Given the description of an element on the screen output the (x, y) to click on. 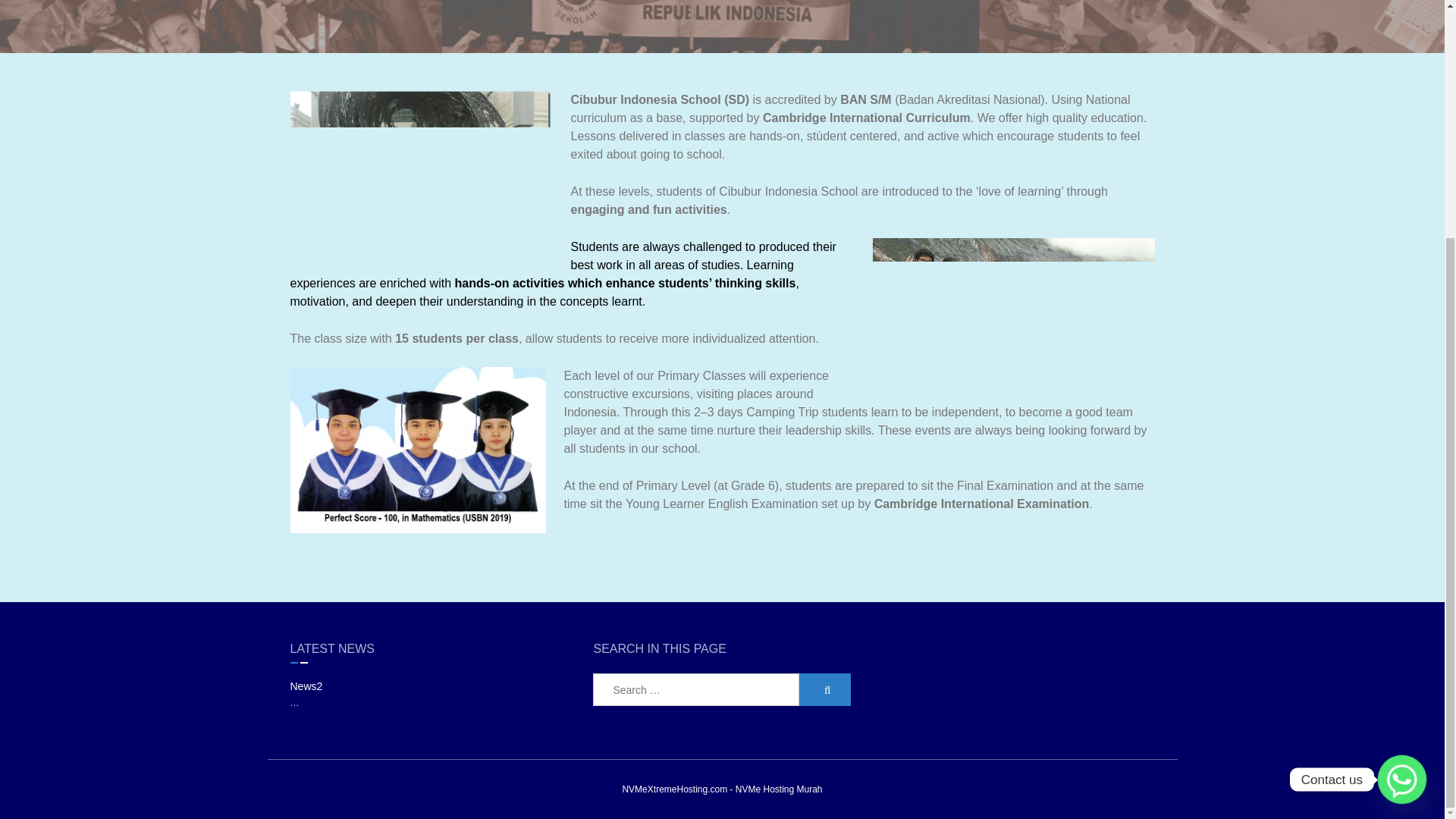
Search (824, 689)
Contact us (1401, 453)
Search (824, 689)
News2 (305, 686)
Search (824, 689)
